Given the description of an element on the screen output the (x, y) to click on. 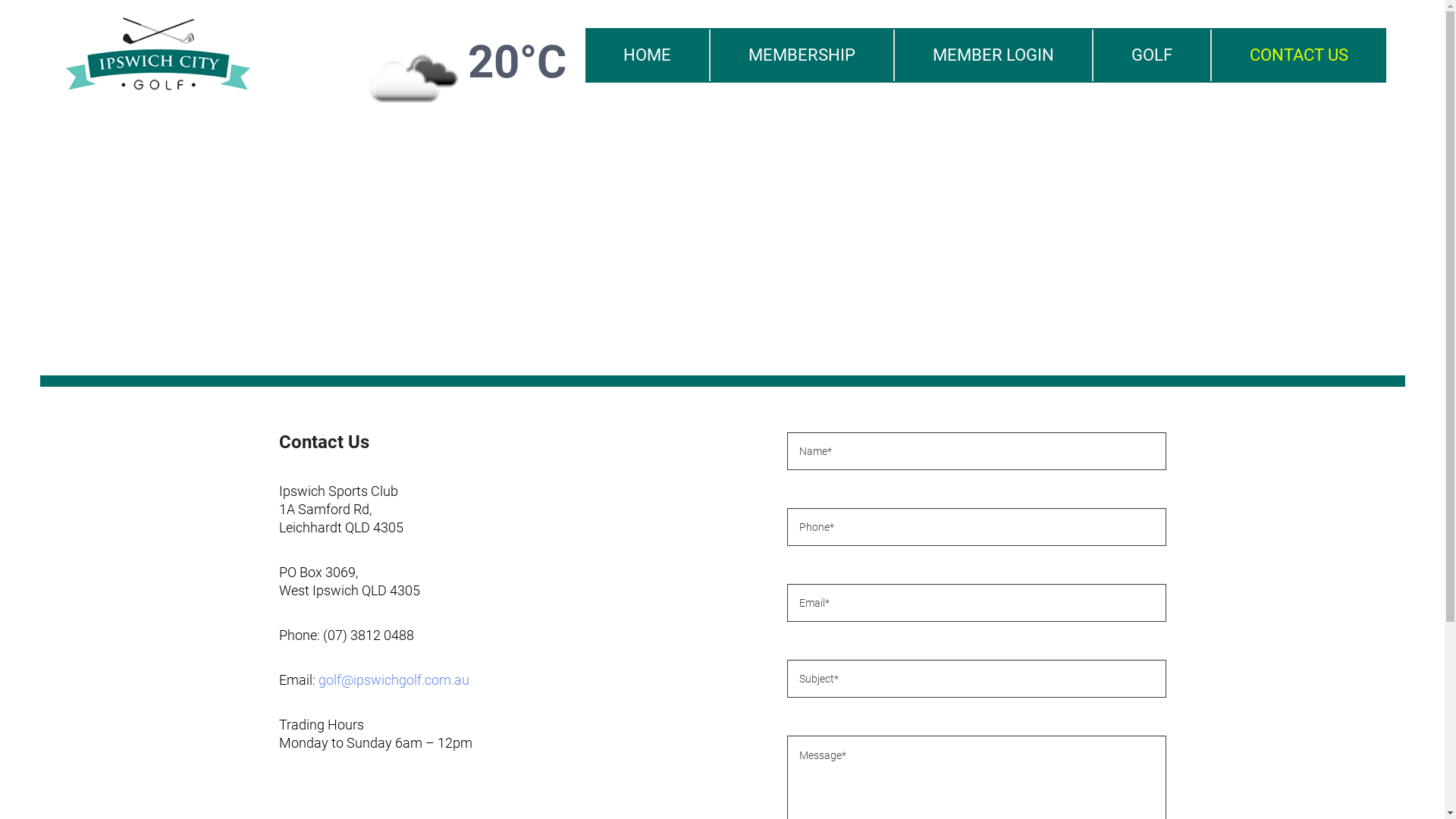
CONTACT US Element type: text (1298, 54)
golf@ipswichgolf.com.au Element type: text (393, 679)
HOME Element type: text (647, 54)
MEMBER LOGIN Element type: text (993, 54)
MEMBERSHIP Element type: text (800, 54)
GOLF Element type: text (1151, 54)
